Given the description of an element on the screen output the (x, y) to click on. 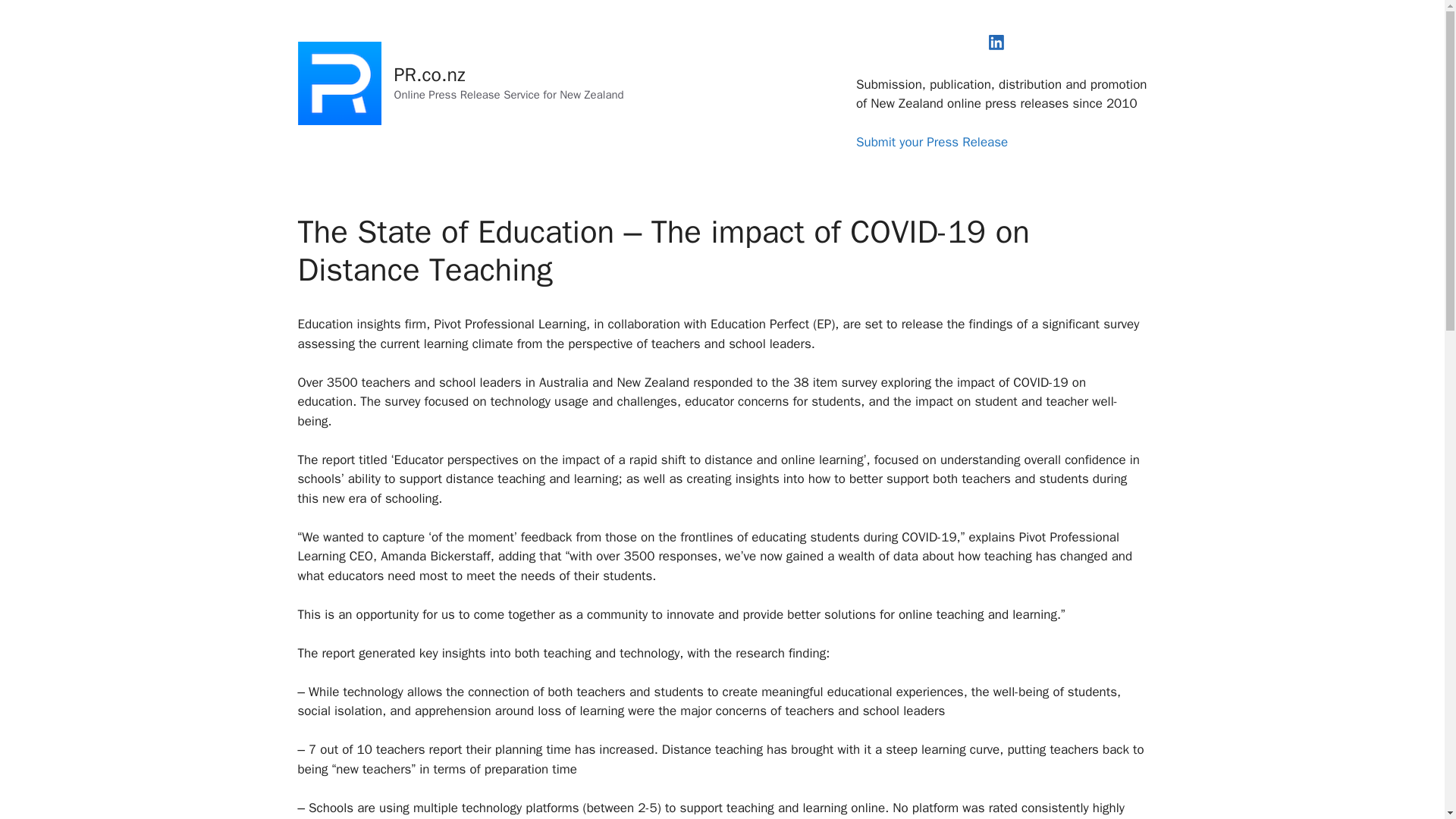
Submit your Press Release (931, 141)
PR.co.nz (429, 74)
LinkedIn (996, 42)
